Given the description of an element on the screen output the (x, y) to click on. 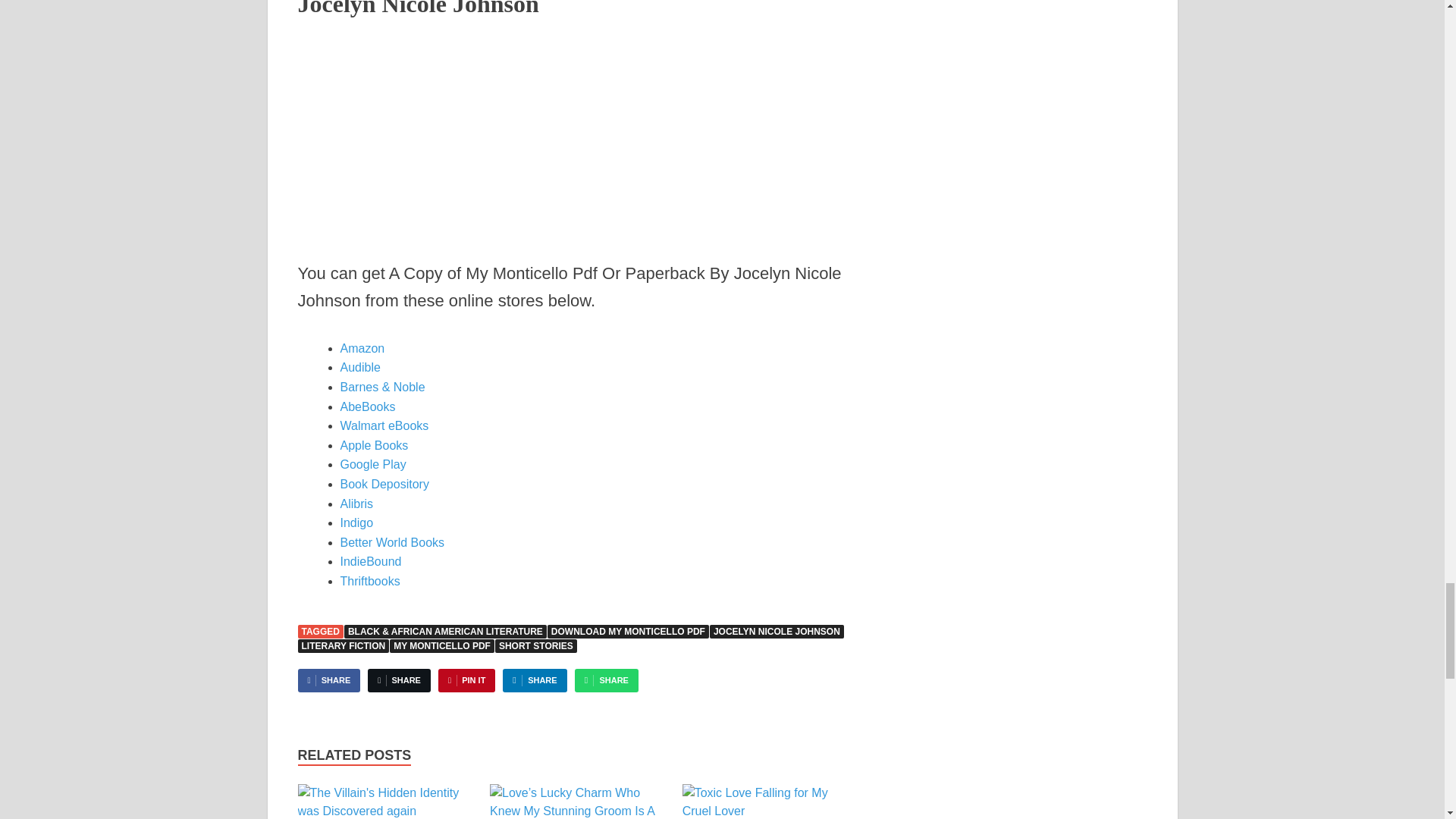
MY MONTICELLO PDF (442, 645)
Amazon (361, 348)
Better World Books (391, 542)
IndieBound (370, 561)
Audible (359, 367)
SHORT STORIES (535, 645)
Indigo (355, 522)
JOCELYN NICOLE JOHNSON (777, 631)
Thriftbooks (368, 581)
Apple Books (373, 445)
